Given the description of an element on the screen output the (x, y) to click on. 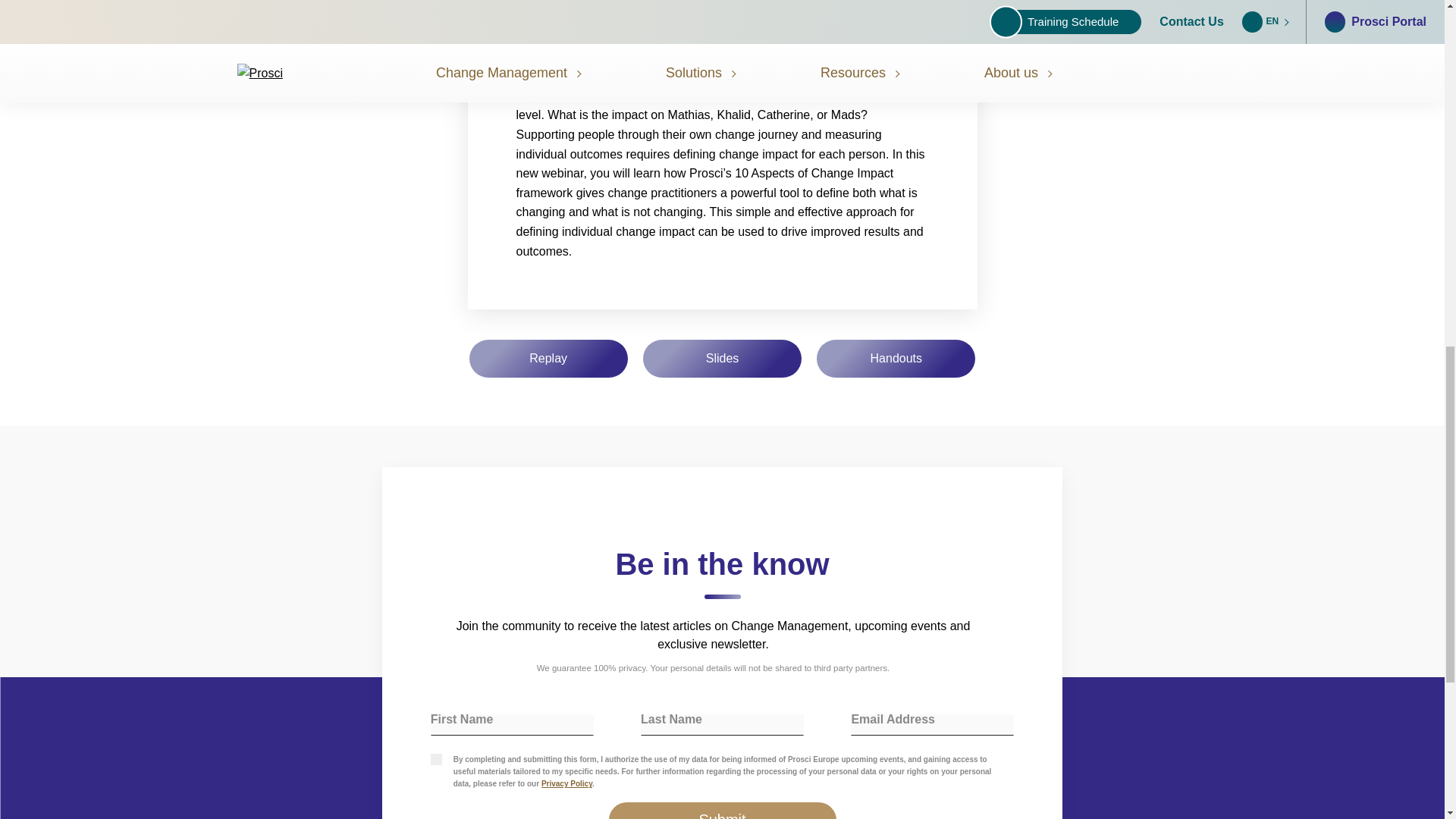
Slides (722, 358)
Replay (547, 358)
